Given the description of an element on the screen output the (x, y) to click on. 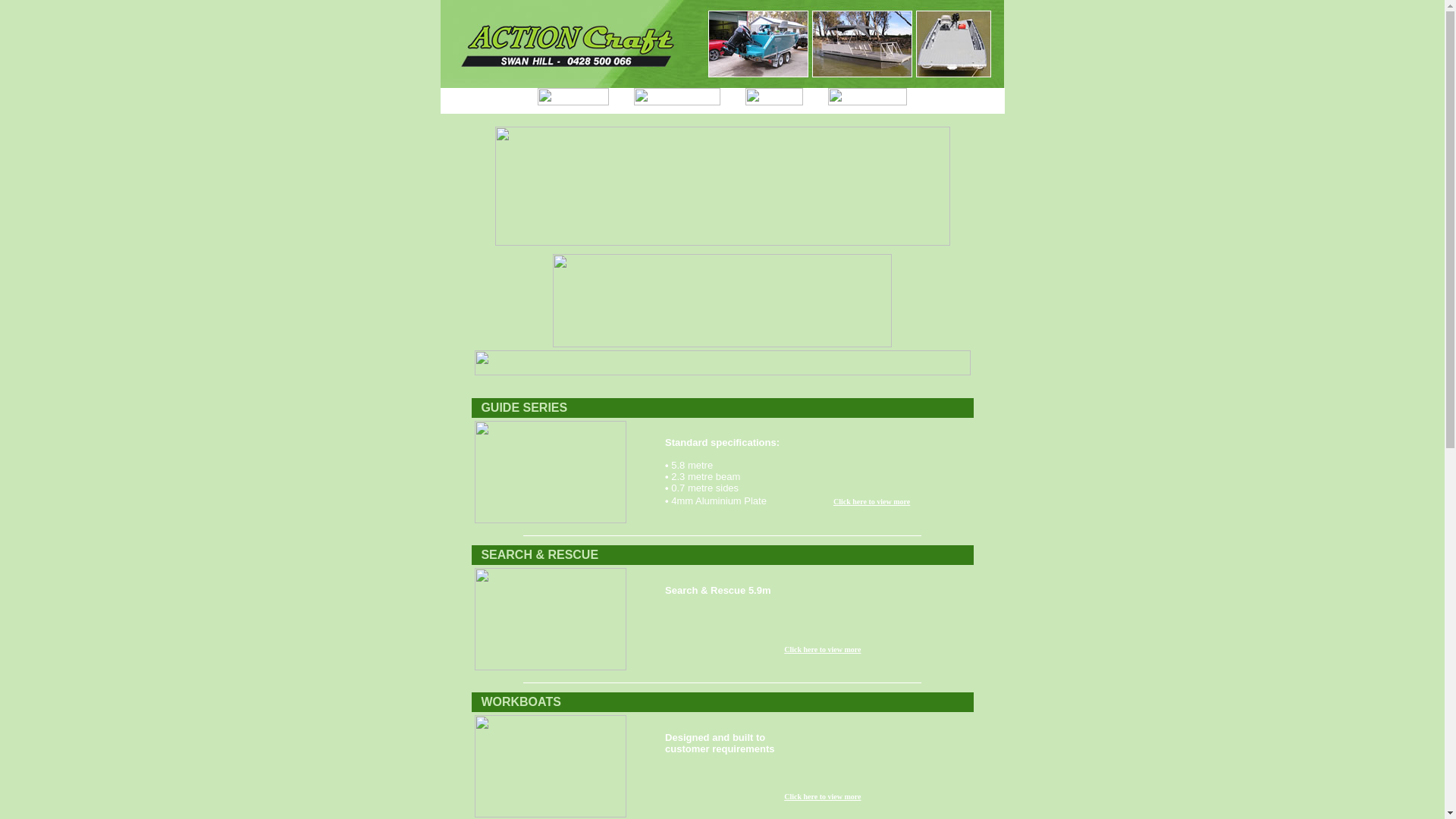
Click here to view more Element type: text (822, 796)
Click here to view more Element type: text (871, 501)
Click here to view more Element type: text (822, 649)
